Given the description of an element on the screen output the (x, y) to click on. 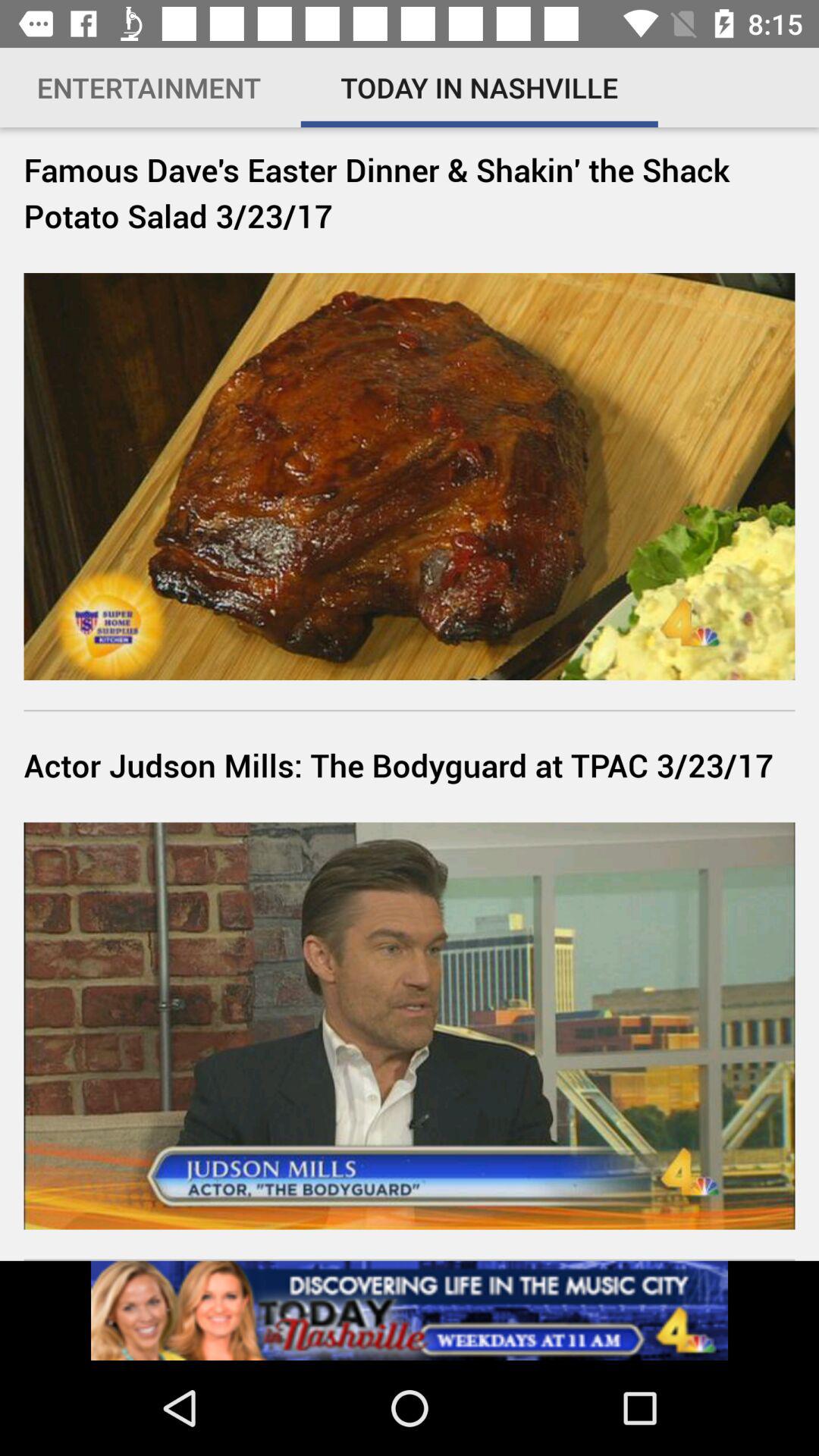
visit today nashville (409, 1310)
